Given the description of an element on the screen output the (x, y) to click on. 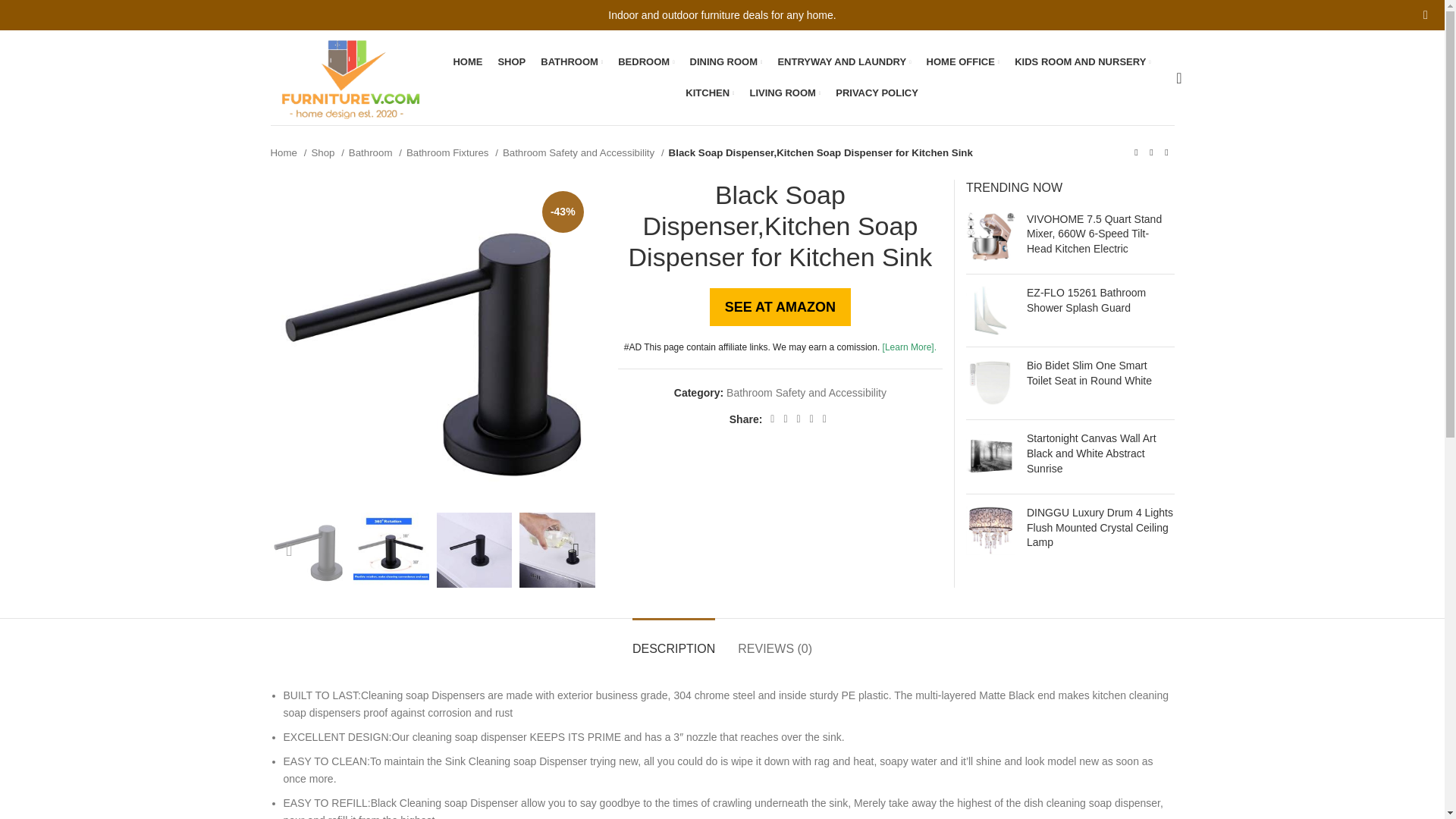
BEDROOM (645, 61)
Bathroom (375, 152)
Shop (327, 152)
PRIVACY POLICY (876, 92)
Bathroom Safety and Accessibility (582, 152)
Home (287, 152)
EZ-FLO 15261 Bathroom Shower Splash Guard (990, 309)
HOME OFFICE (963, 61)
DINING ROOM (726, 61)
